Given the description of an element on the screen output the (x, y) to click on. 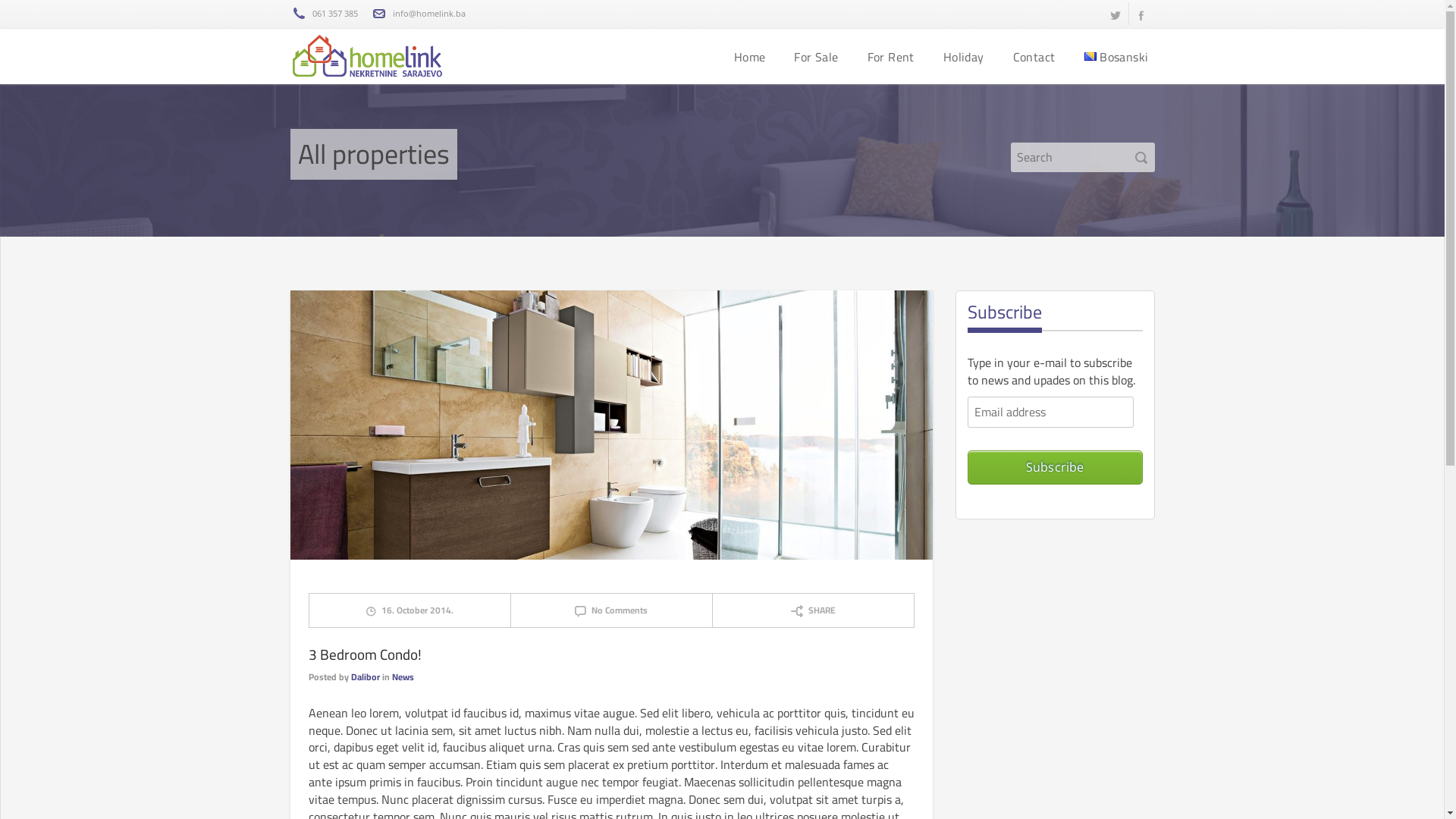
Holiday Element type: text (963, 56)
For Rent Element type: text (890, 56)
Bosanski Element type: hover (1090, 56)
info@homelink.ba Element type: text (428, 12)
For Sale Element type: text (815, 56)
No Comments Element type: text (610, 609)
Bosanski Element type: text (1115, 56)
SHARE Element type: text (812, 609)
Contact Element type: text (1033, 56)
Home Element type: text (749, 56)
3 Bedroom Condo! Element type: text (363, 654)
Subscribe Element type: text (1054, 467)
Dalibor Element type: text (364, 676)
News Element type: text (402, 676)
16. October 2014. Element type: text (409, 609)
